Given the description of an element on the screen output the (x, y) to click on. 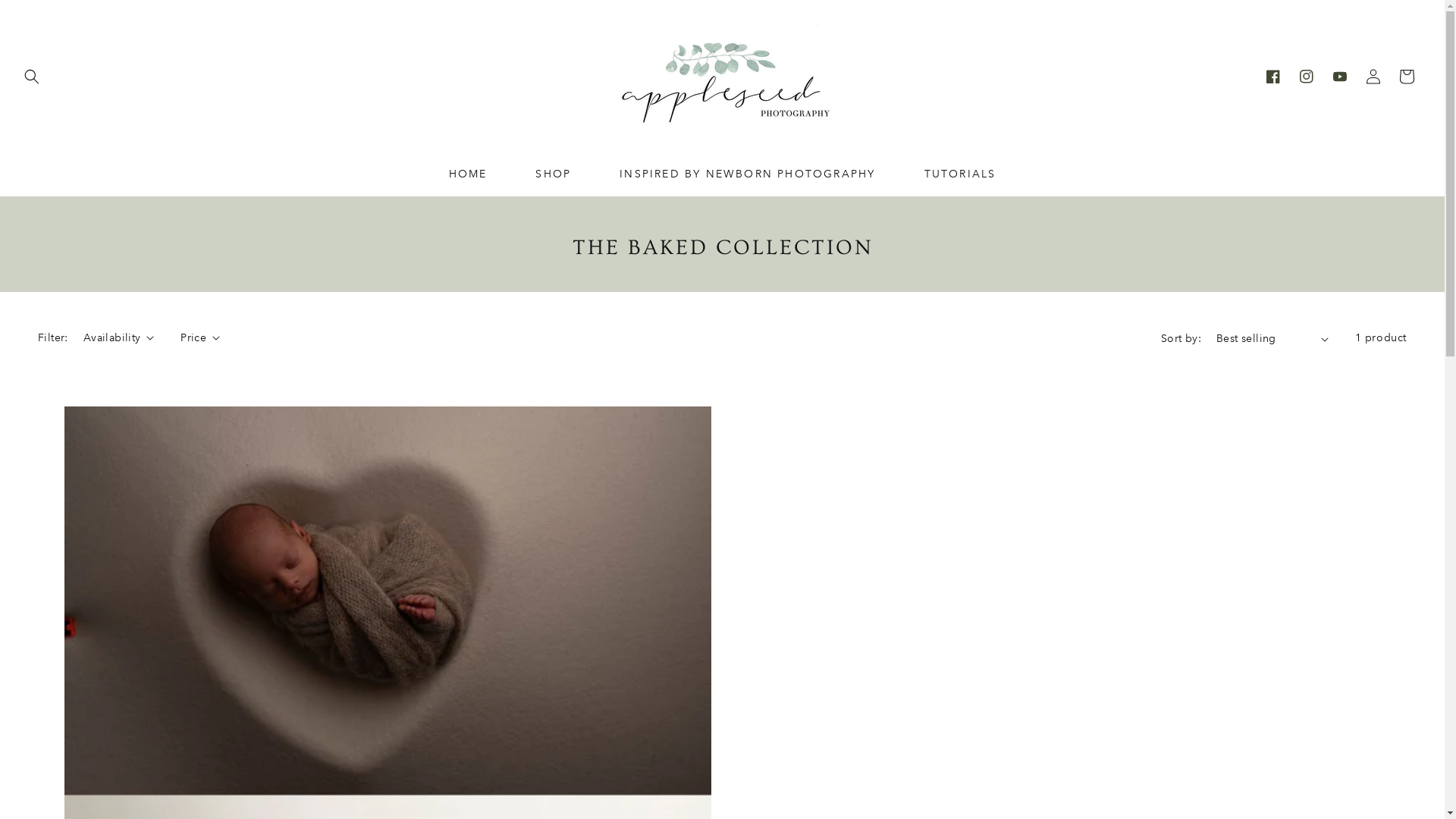
INSPIRED BY NEWBORN PHOTOGRAPHY Element type: text (747, 174)
TUTORIALS Element type: text (959, 174)
HOME Element type: text (467, 174)
Cart Element type: text (1406, 75)
Instagram Element type: text (1306, 75)
Facebook Element type: text (1272, 75)
Log in Element type: text (1373, 75)
SHOP Element type: text (553, 174)
YouTube Element type: text (1339, 75)
